Given the description of an element on the screen output the (x, y) to click on. 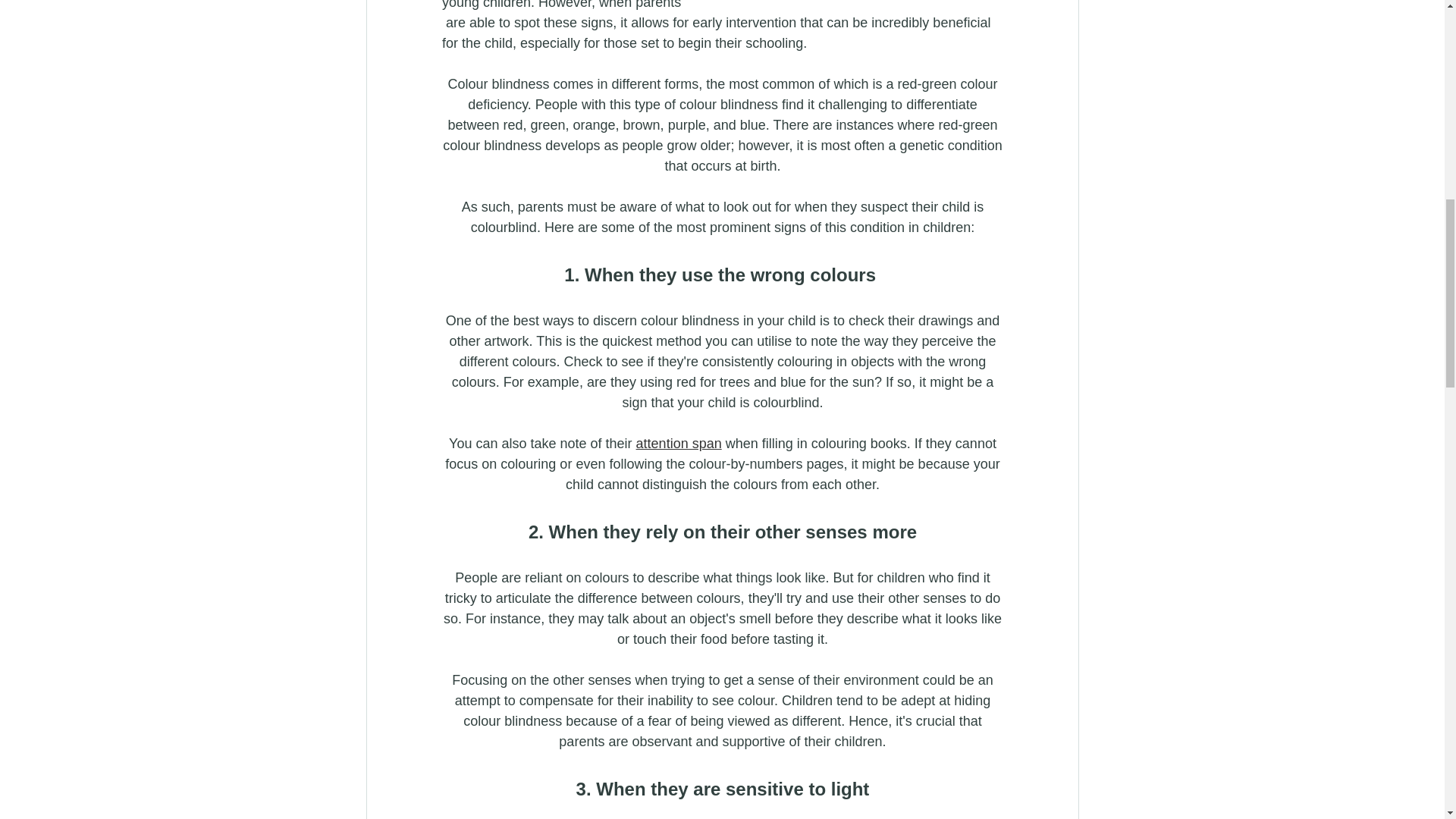
attention span (677, 443)
